Given the description of an element on the screen output the (x, y) to click on. 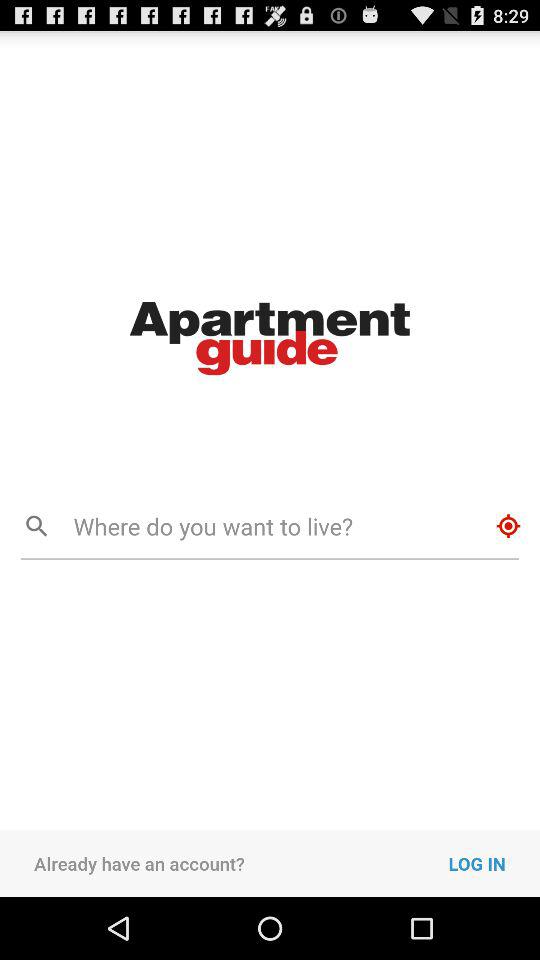
get location (508, 525)
